Given the description of an element on the screen output the (x, y) to click on. 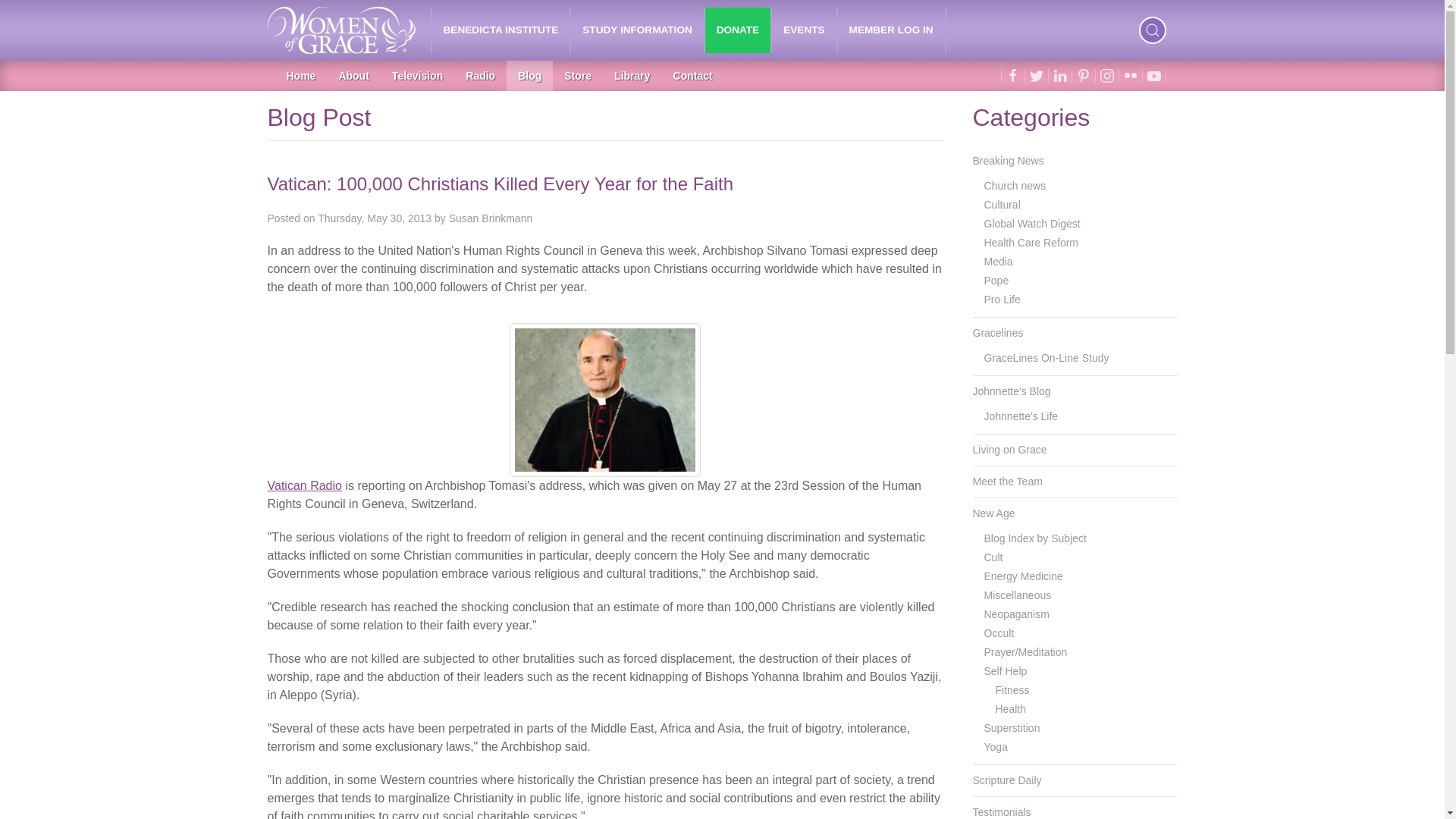
Pope (1080, 280)
Pro Life (1080, 299)
Library (631, 75)
EVENTS (803, 30)
About (353, 75)
Cultural (1080, 204)
BENEDICTA INSTITUTE (501, 30)
MEMBER LOG IN (891, 30)
Global Watch Digest (1080, 223)
Vatican Radio (305, 485)
Breaking News (1074, 160)
Health Care Reform (1080, 242)
Media (1080, 261)
STUDY INFORMATION (636, 30)
Thursday, May 30, 2013 (373, 218)
